Given the description of an element on the screen output the (x, y) to click on. 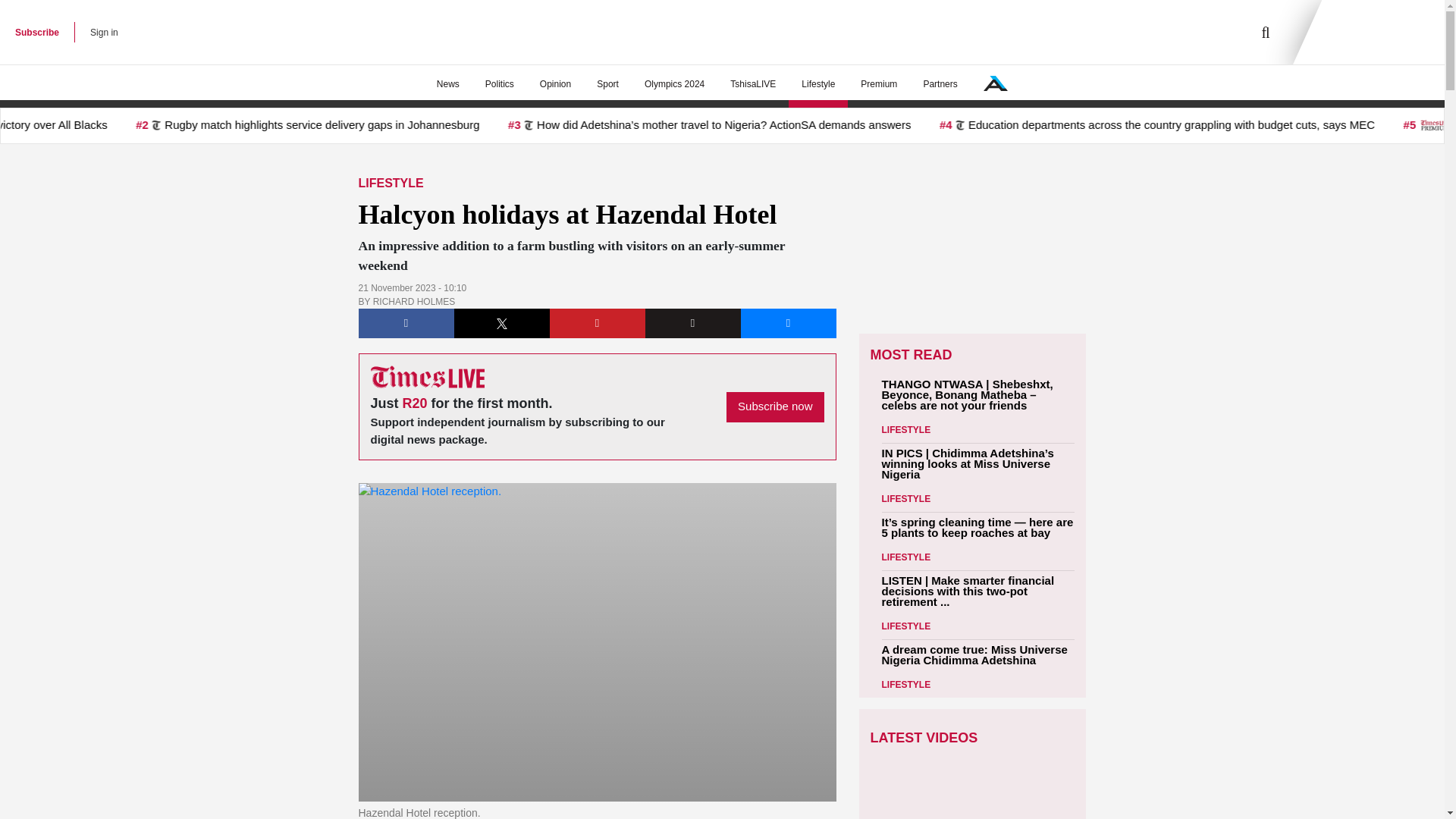
Sport (607, 84)
Sign in (103, 32)
Premium (878, 84)
Opinion (555, 84)
TshisaLIVE (753, 84)
Subscribe (36, 32)
Lifestyle (818, 84)
News (447, 84)
Partners (939, 84)
Olympics 2024 (674, 84)
